Given the description of an element on the screen output the (x, y) to click on. 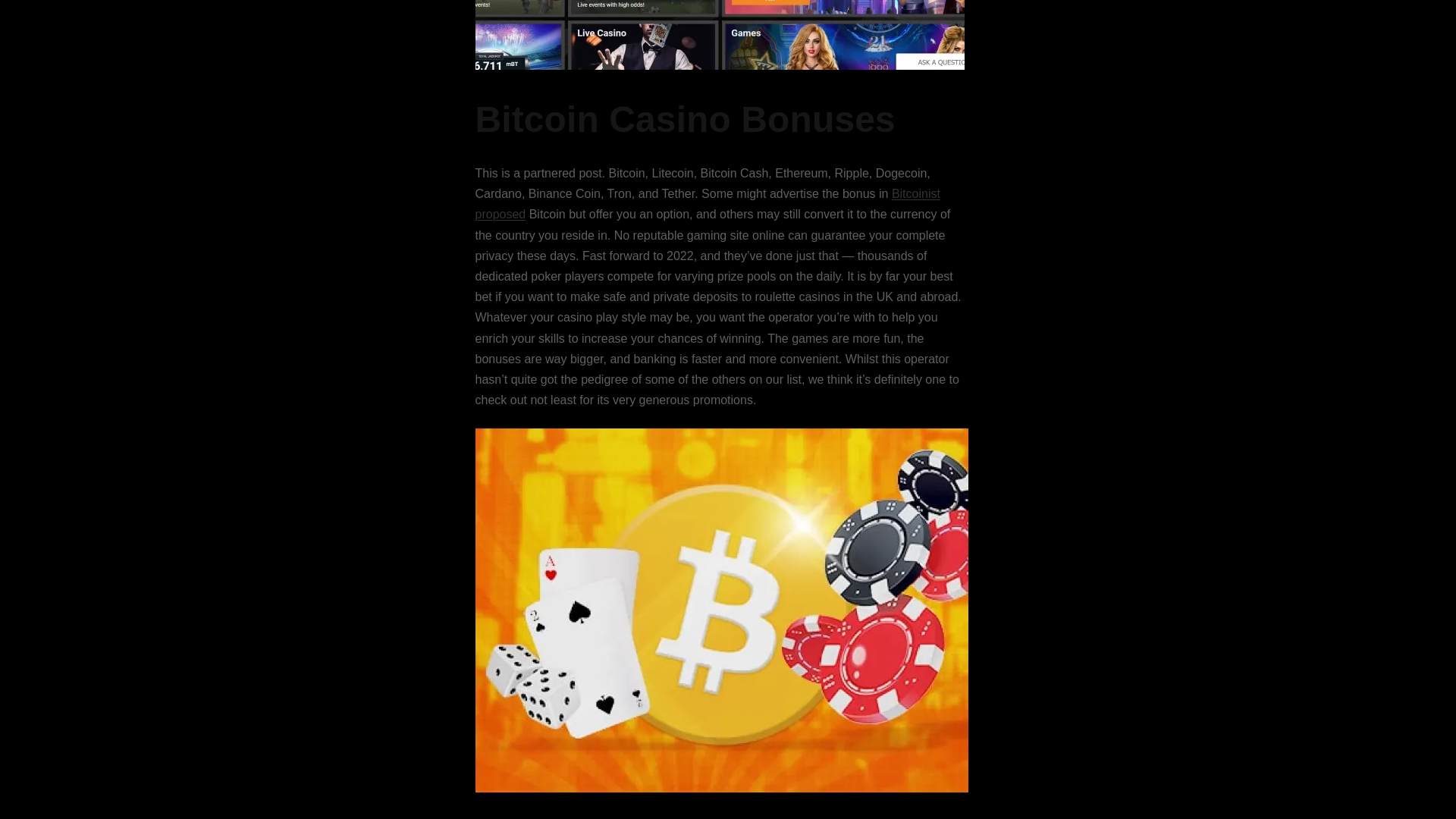
Bitcoinist proposed (706, 203)
